Given the description of an element on the screen output the (x, y) to click on. 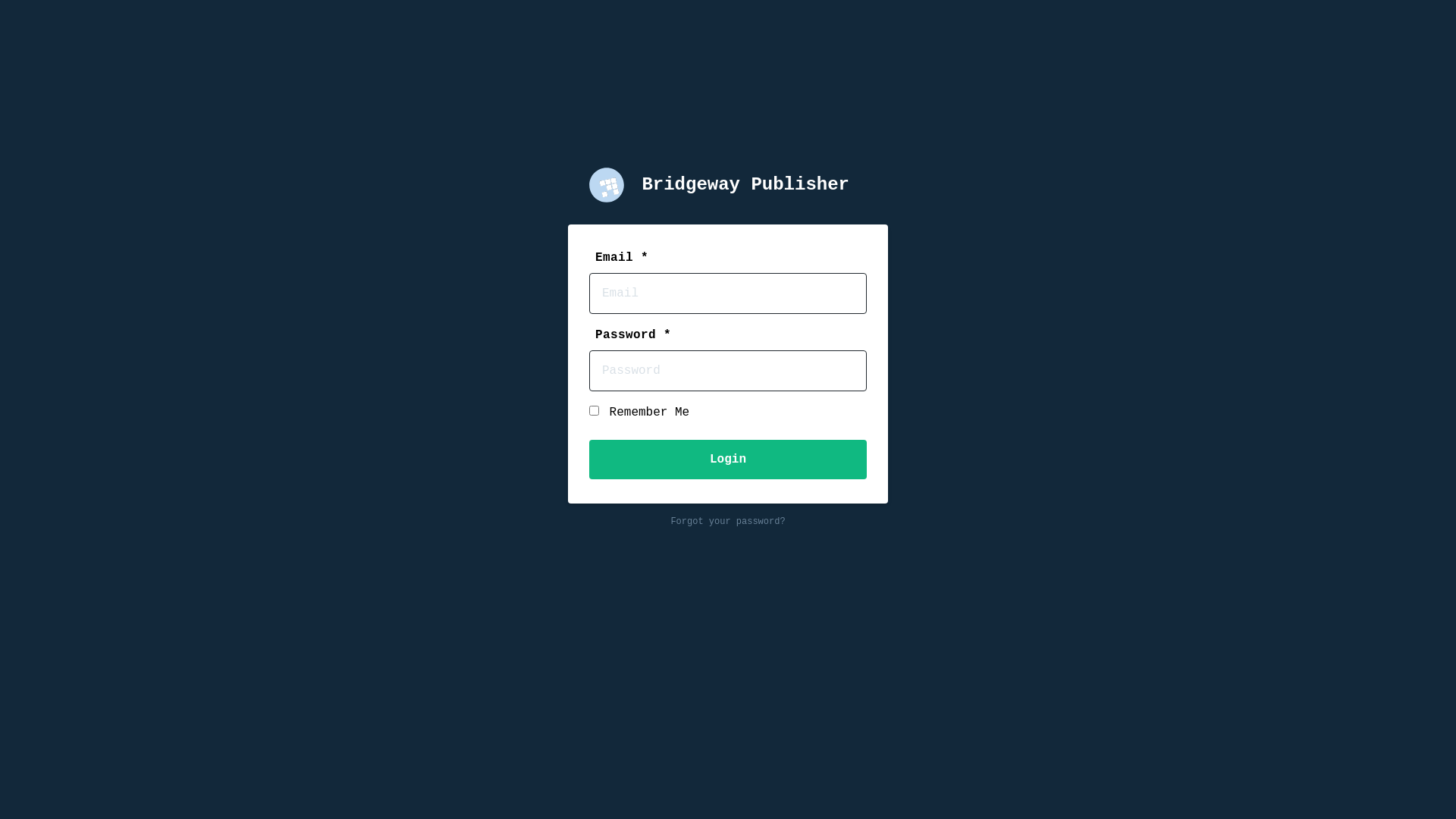
Login Element type: text (727, 459)
Forgot your password? Element type: text (727, 521)
